Given the description of an element on the screen output the (x, y) to click on. 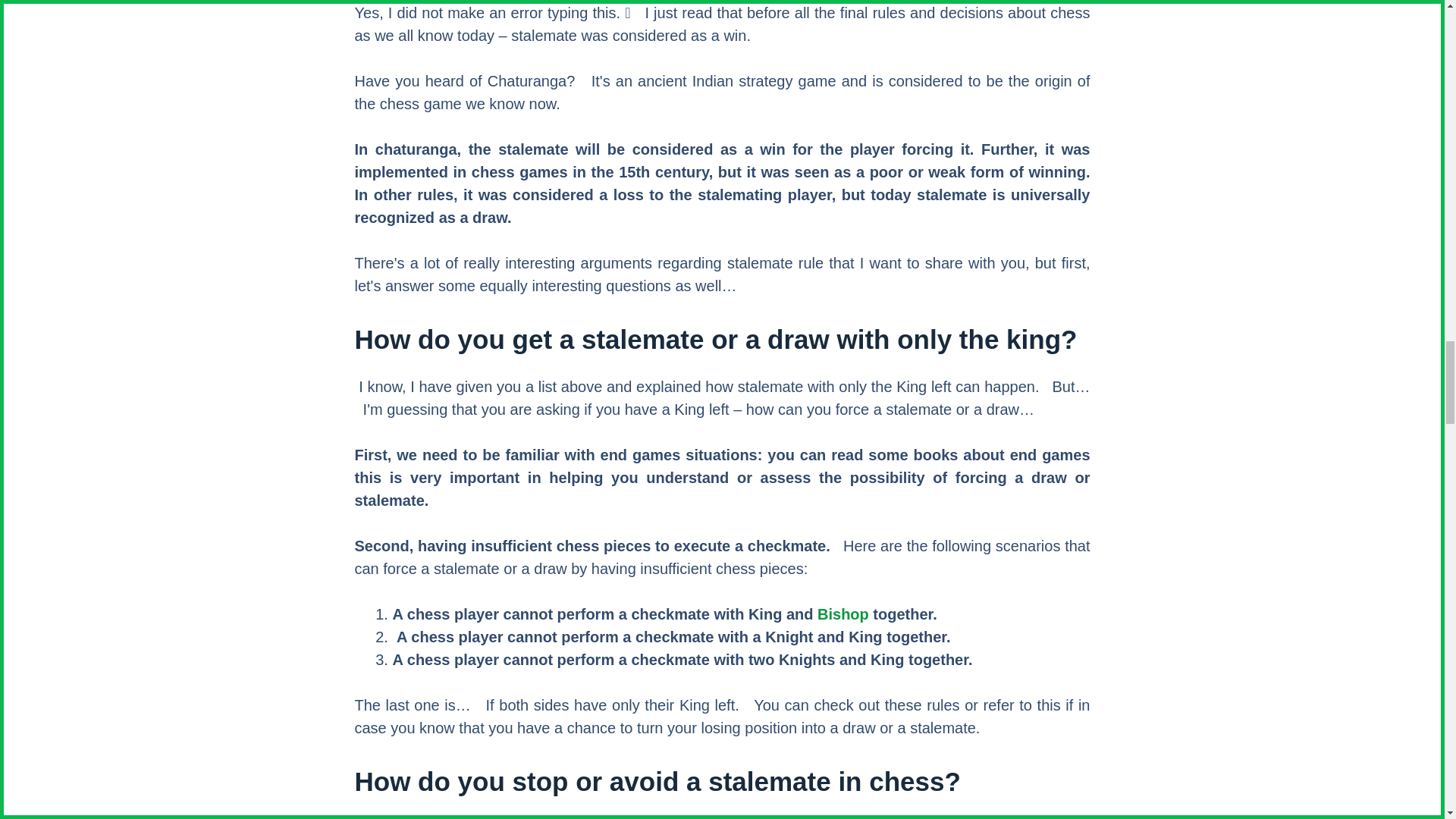
Bishop (842, 614)
